Given the description of an element on the screen output the (x, y) to click on. 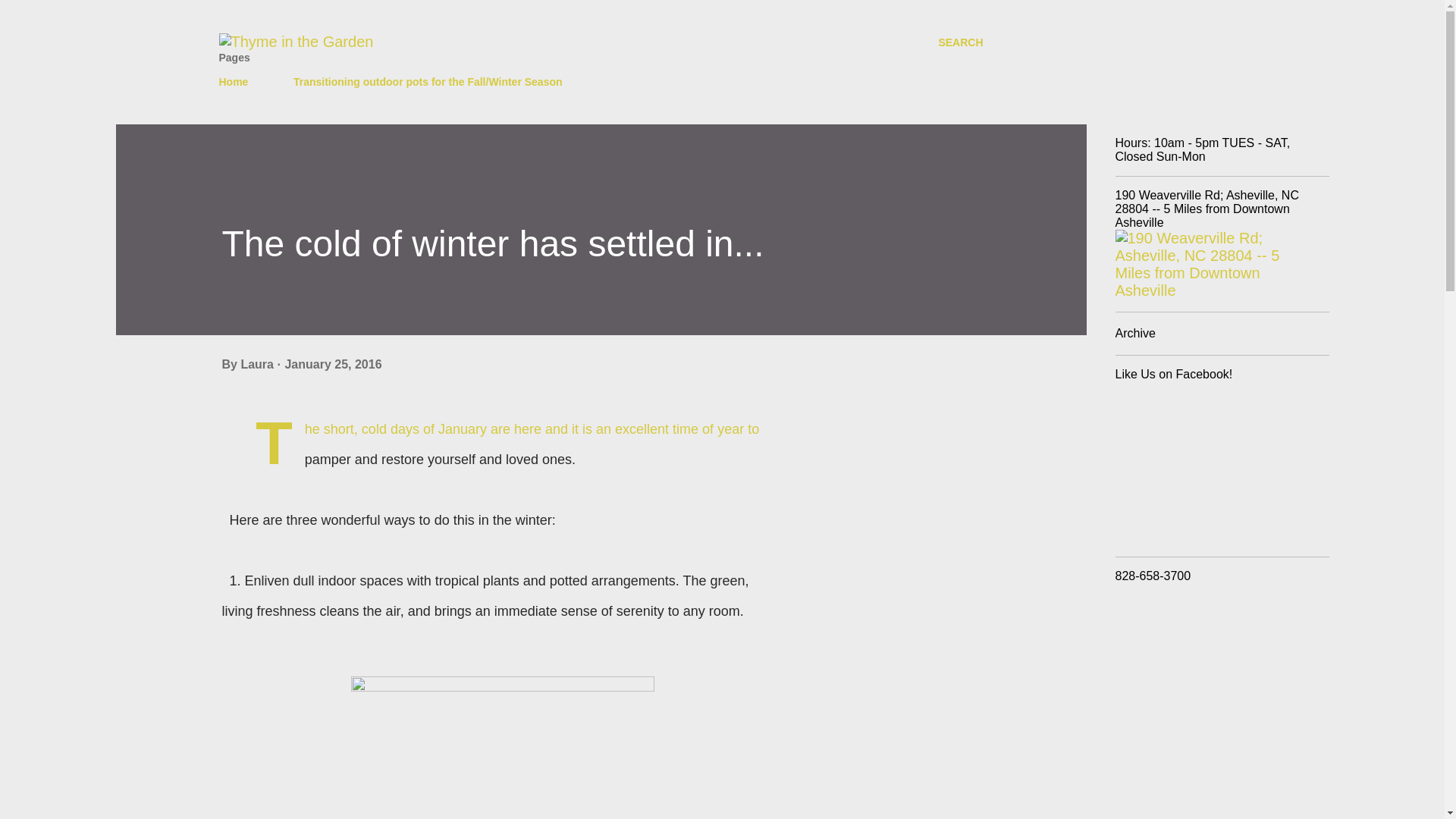
SEARCH (959, 42)
Laura (258, 364)
author profile (258, 364)
permanent link (332, 364)
Home (237, 81)
January 25, 2016 (332, 364)
